Given the description of an element on the screen output the (x, y) to click on. 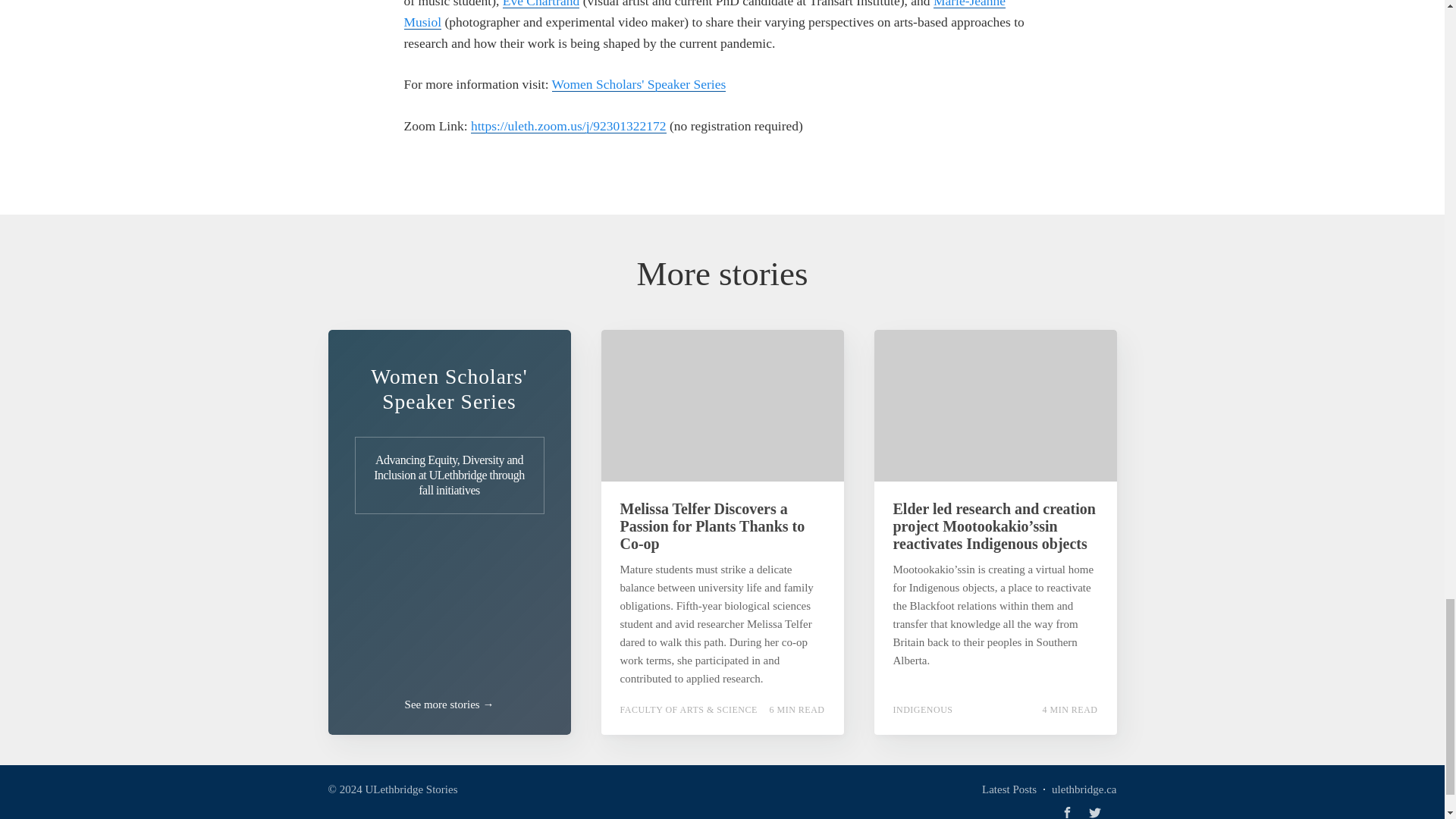
ulethbridge.ca (1083, 788)
Marie-Jeanne Musiol (704, 14)
Eve Chartrand (540, 4)
ULethbridge Stories (411, 788)
Women Scholars' Speaker Series (449, 388)
Women Scholars' Speaker Series (638, 83)
Latest Posts (1008, 788)
